Given the description of an element on the screen output the (x, y) to click on. 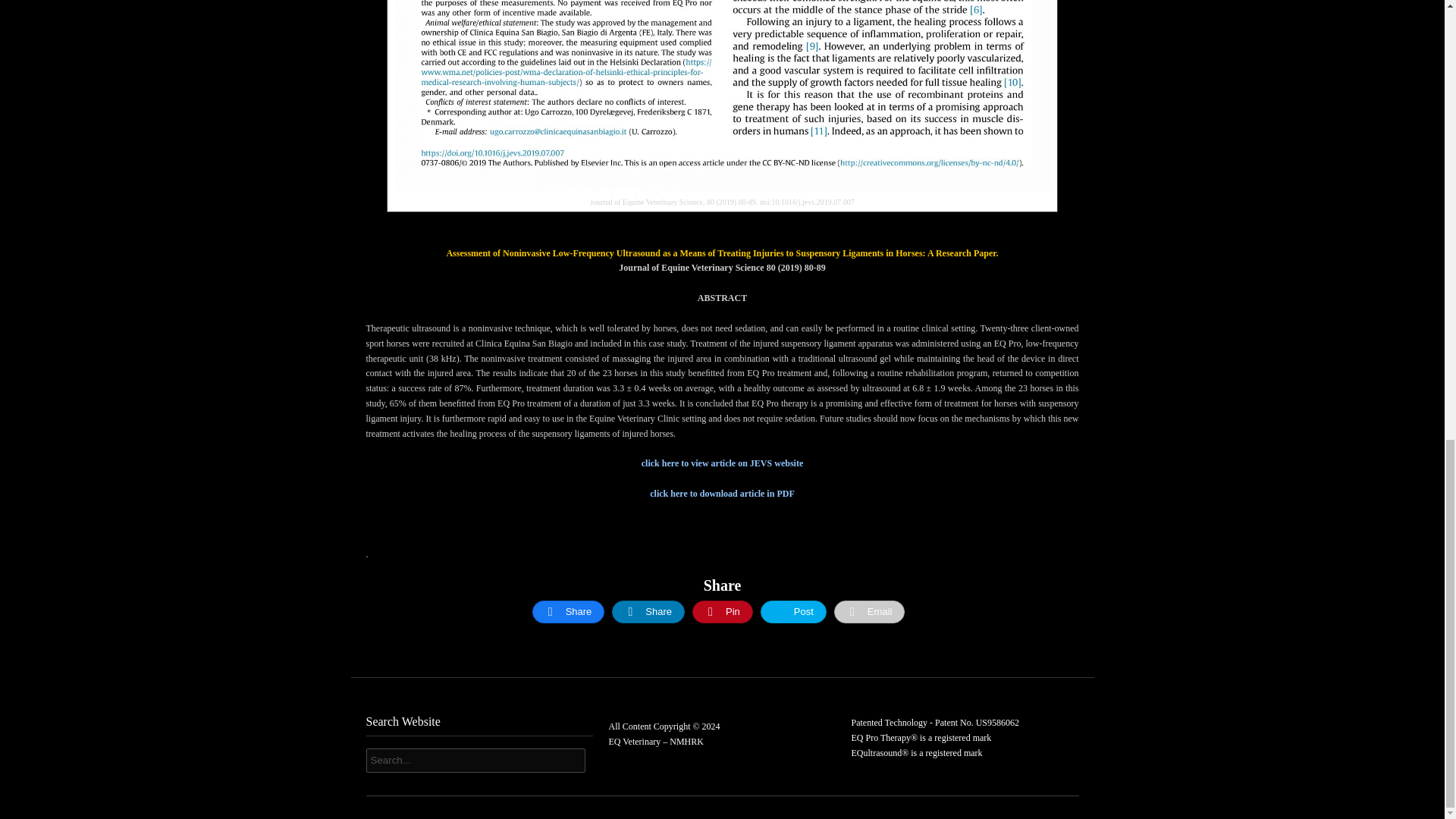
click here to view article on JEVS website (722, 462)
click here to download article in PDF (721, 493)
Search... (475, 760)
